Given the description of an element on the screen output the (x, y) to click on. 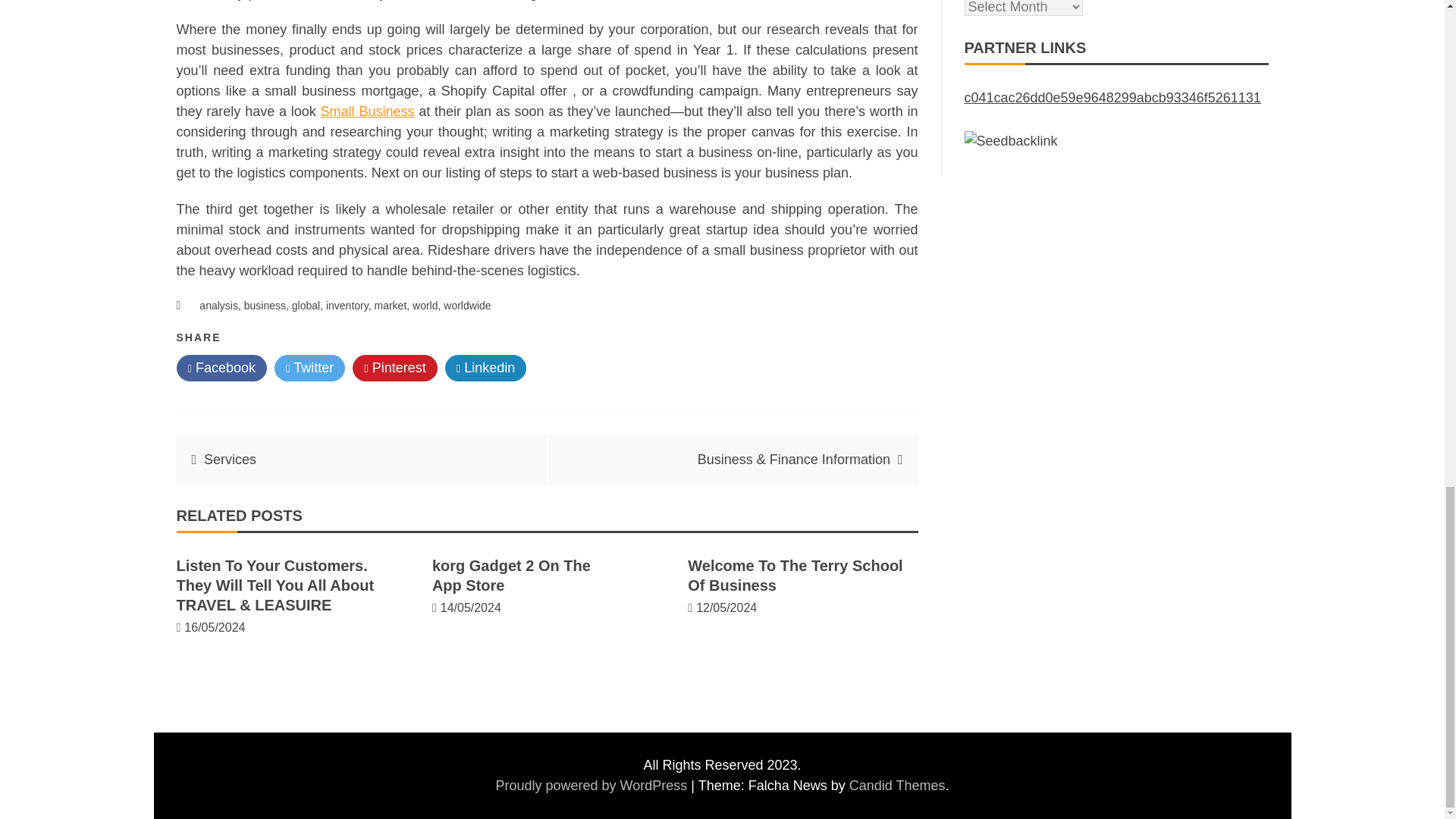
global (306, 305)
worldwide (467, 305)
korg Gadget 2 On The App Store (511, 575)
Seedbacklink (1010, 141)
Services (229, 459)
Linkedin (486, 367)
Facebook (221, 367)
business (264, 305)
Twitter (310, 367)
Small Business (367, 111)
world (425, 305)
analysis (218, 305)
market (390, 305)
Pinterest (395, 367)
Welcome To The Terry School Of Business (794, 575)
